Given the description of an element on the screen output the (x, y) to click on. 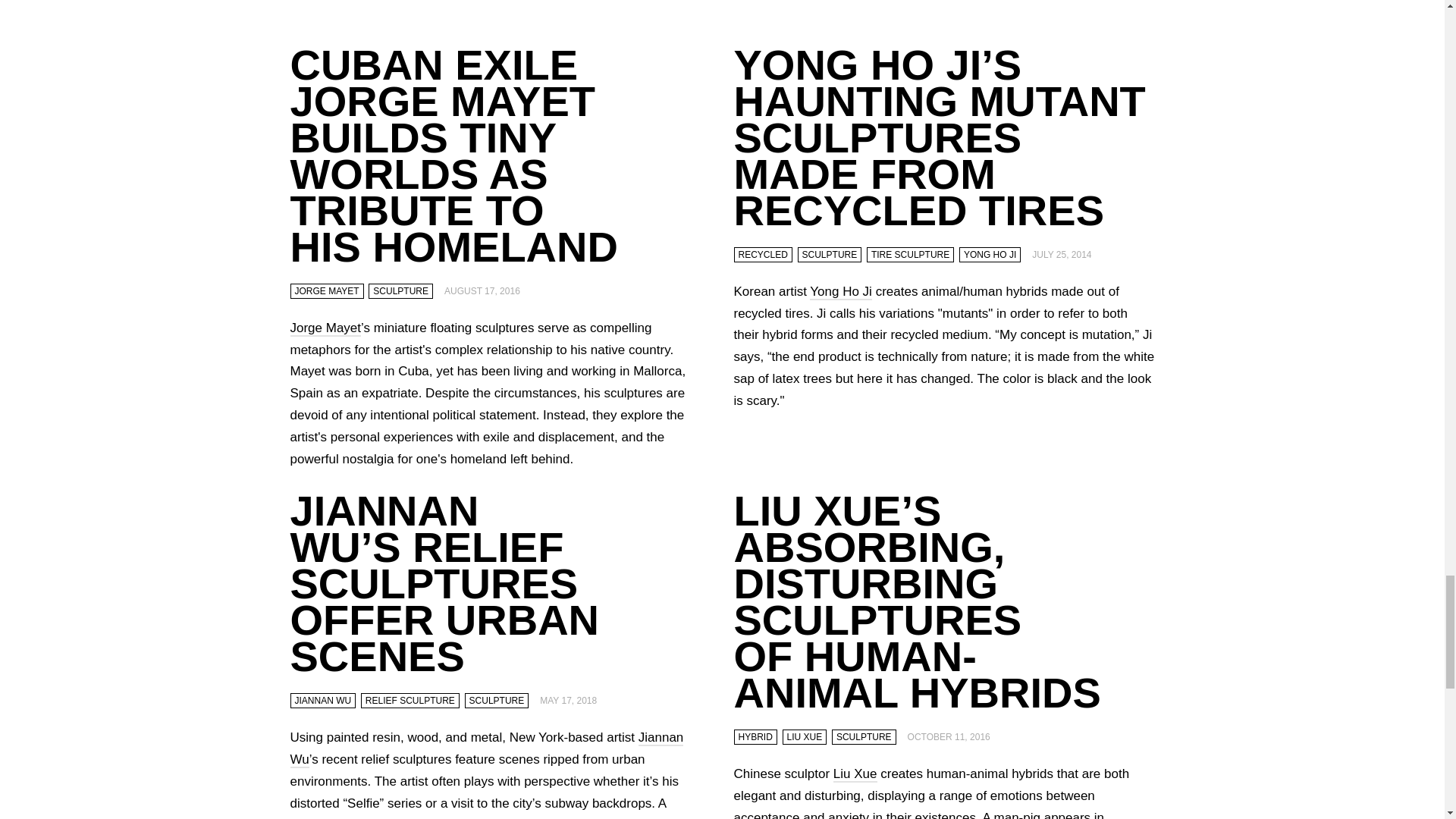
SCULPTURE (863, 736)
RELIEF SCULPTURE (410, 700)
SCULPTURE (829, 254)
JORGE MAYET (325, 290)
LIU XUE (805, 736)
Jorge Mayet (325, 328)
SCULPTURE (400, 290)
TIRE SCULPTURE (909, 254)
Jiannan Wu (485, 749)
SCULPTURE (496, 700)
JIANNAN WU (322, 700)
Liu Xue (854, 774)
YONG HO JI (989, 254)
Yong Ho Ji (840, 292)
